Given the description of an element on the screen output the (x, y) to click on. 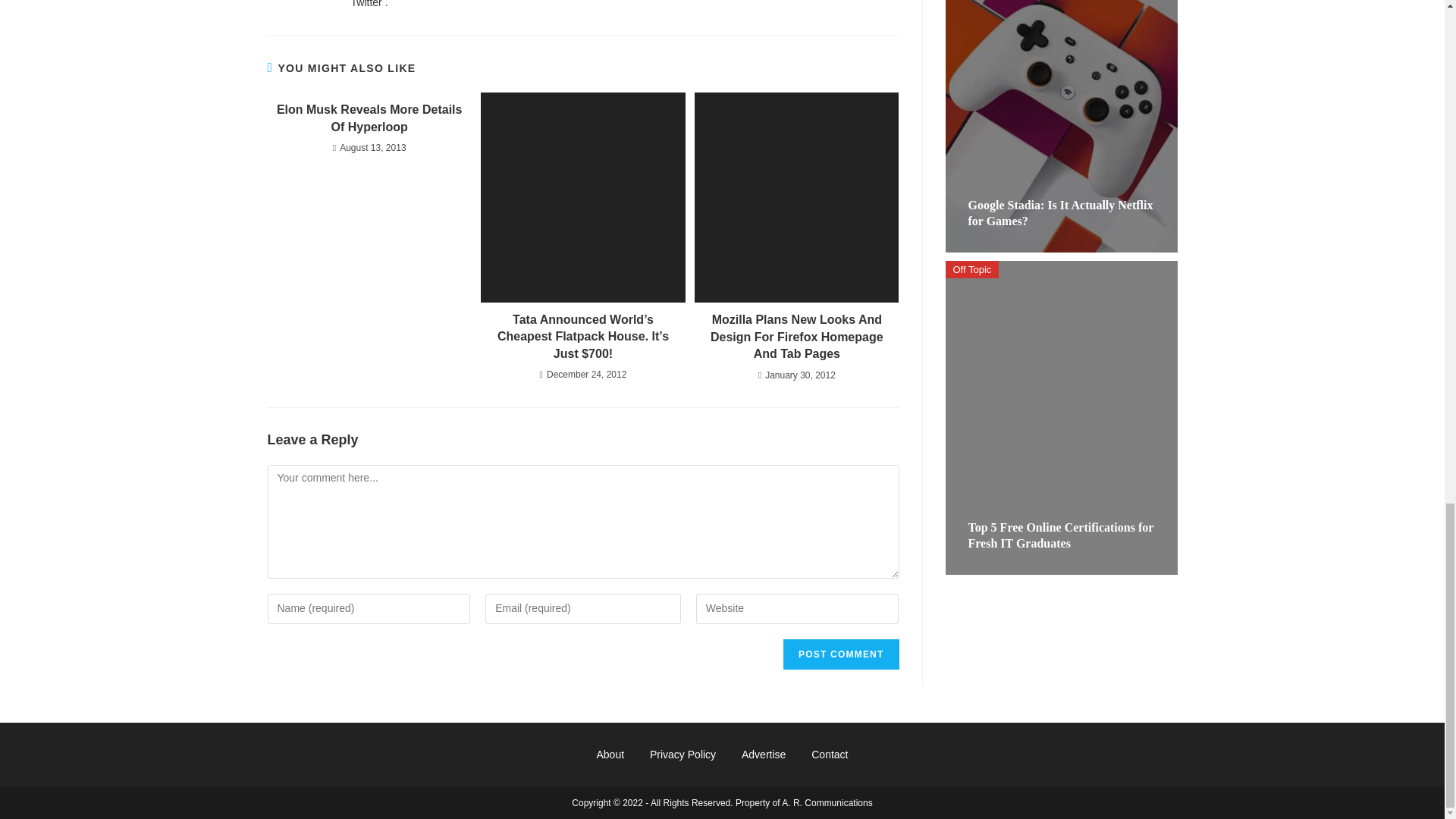
Google Stadia: Is It Actually Netflix for Games? (1060, 213)
Off Topic (971, 269)
Post Comment (840, 654)
Top 5 Free Online Certifications for Fresh IT Graduates (1060, 534)
